Given the description of an element on the screen output the (x, y) to click on. 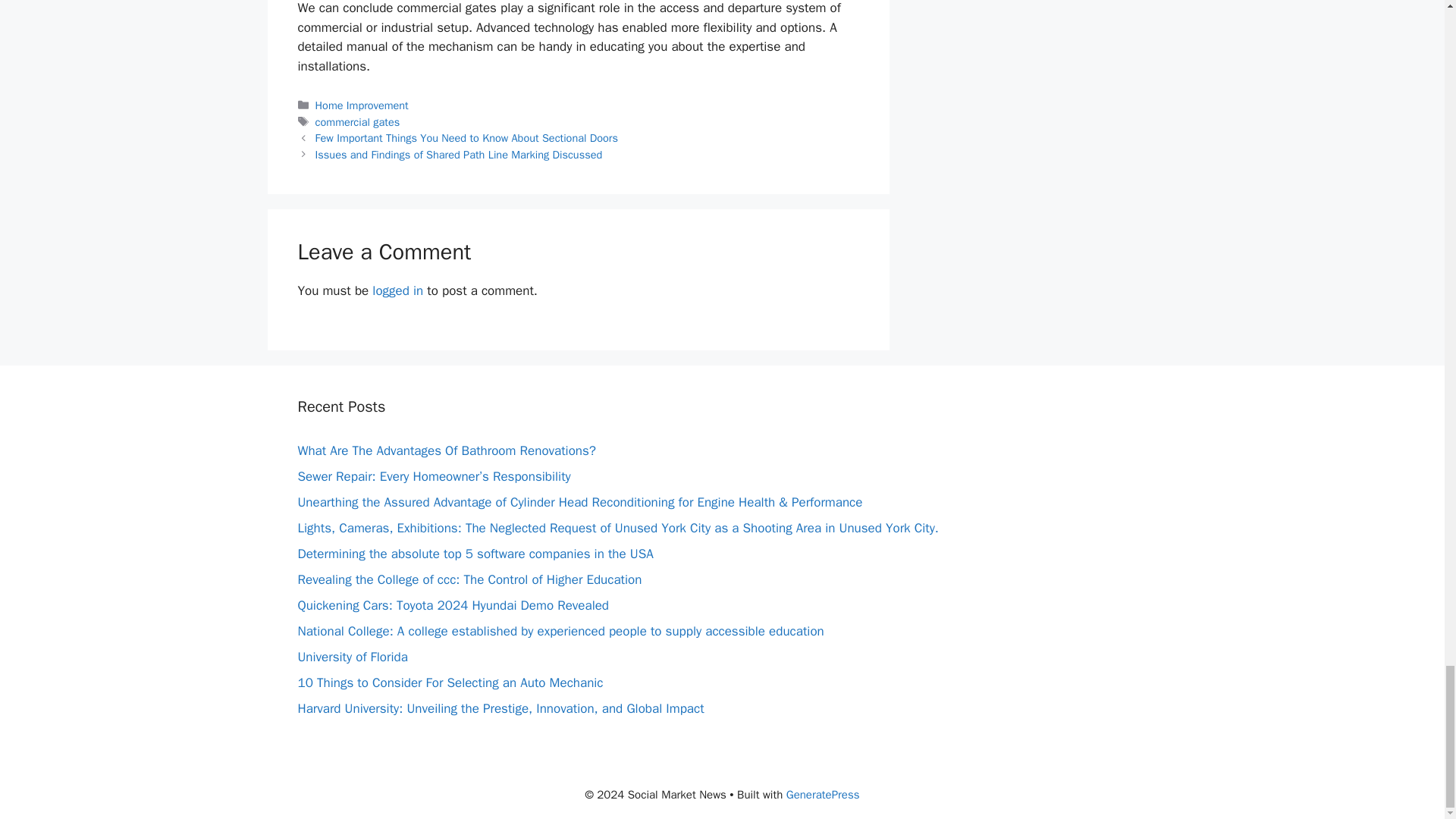
University of Florida (352, 657)
GeneratePress (823, 794)
logged in (397, 290)
Home Improvement (362, 105)
Quickening Cars: Toyota 2024 Hyundai Demo Revealed (452, 605)
Issues and Findings of Shared Path Line Marking Discussed (458, 154)
commercial gates (357, 121)
What Are The Advantages Of Bathroom Renovations? (446, 450)
10 Things to Consider For Selecting an Auto Mechanic (449, 682)
Few Important Things You Need to Know About Sectional Doors (466, 137)
Determining the absolute top 5 software companies in the USA (474, 553)
